Given the description of an element on the screen output the (x, y) to click on. 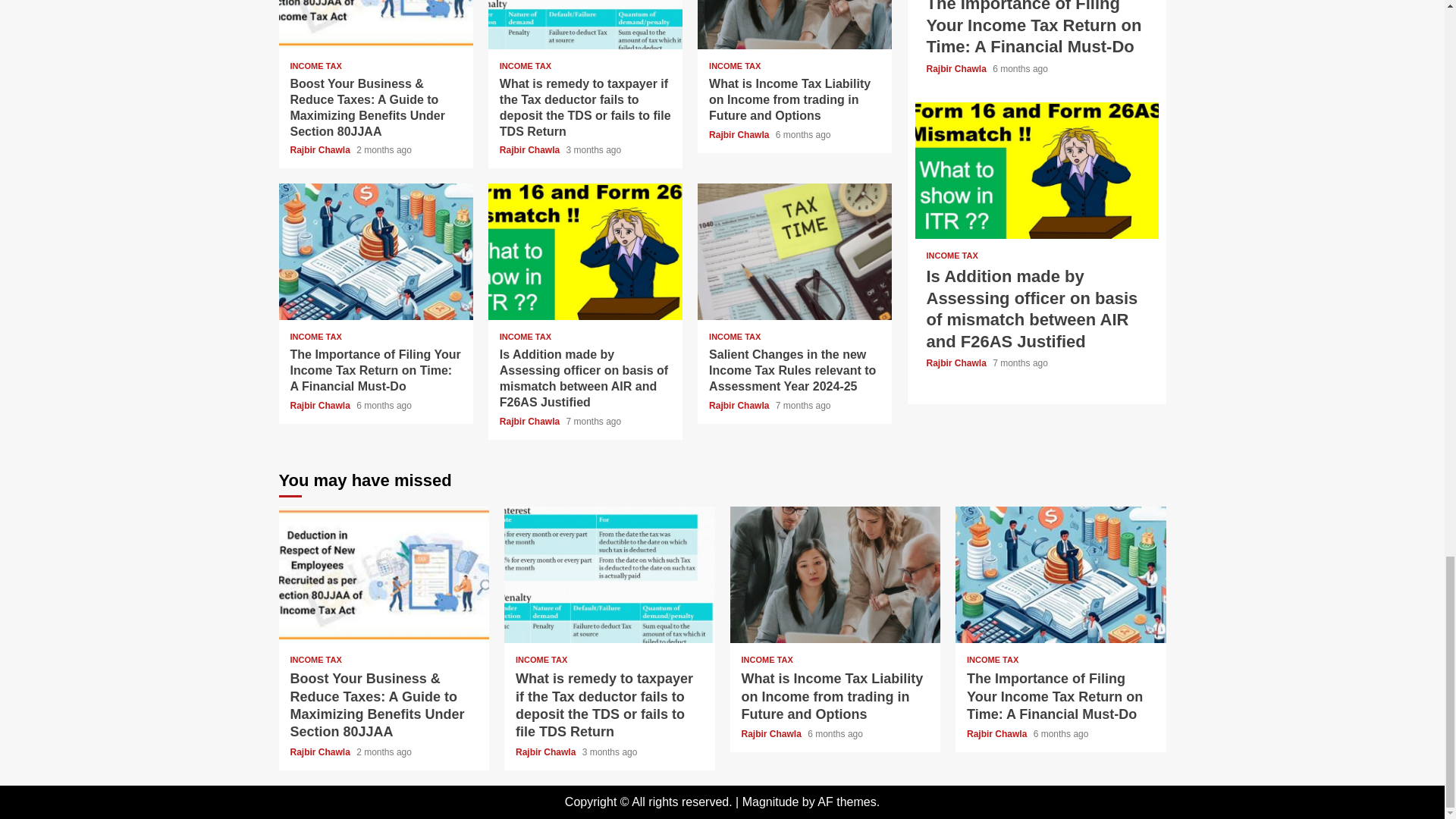
Rajbir Chawla (530, 149)
INCOME TAX (314, 66)
Rajbir Chawla (320, 405)
INCOME TAX (525, 336)
Rajbir Chawla (740, 134)
